Given the description of an element on the screen output the (x, y) to click on. 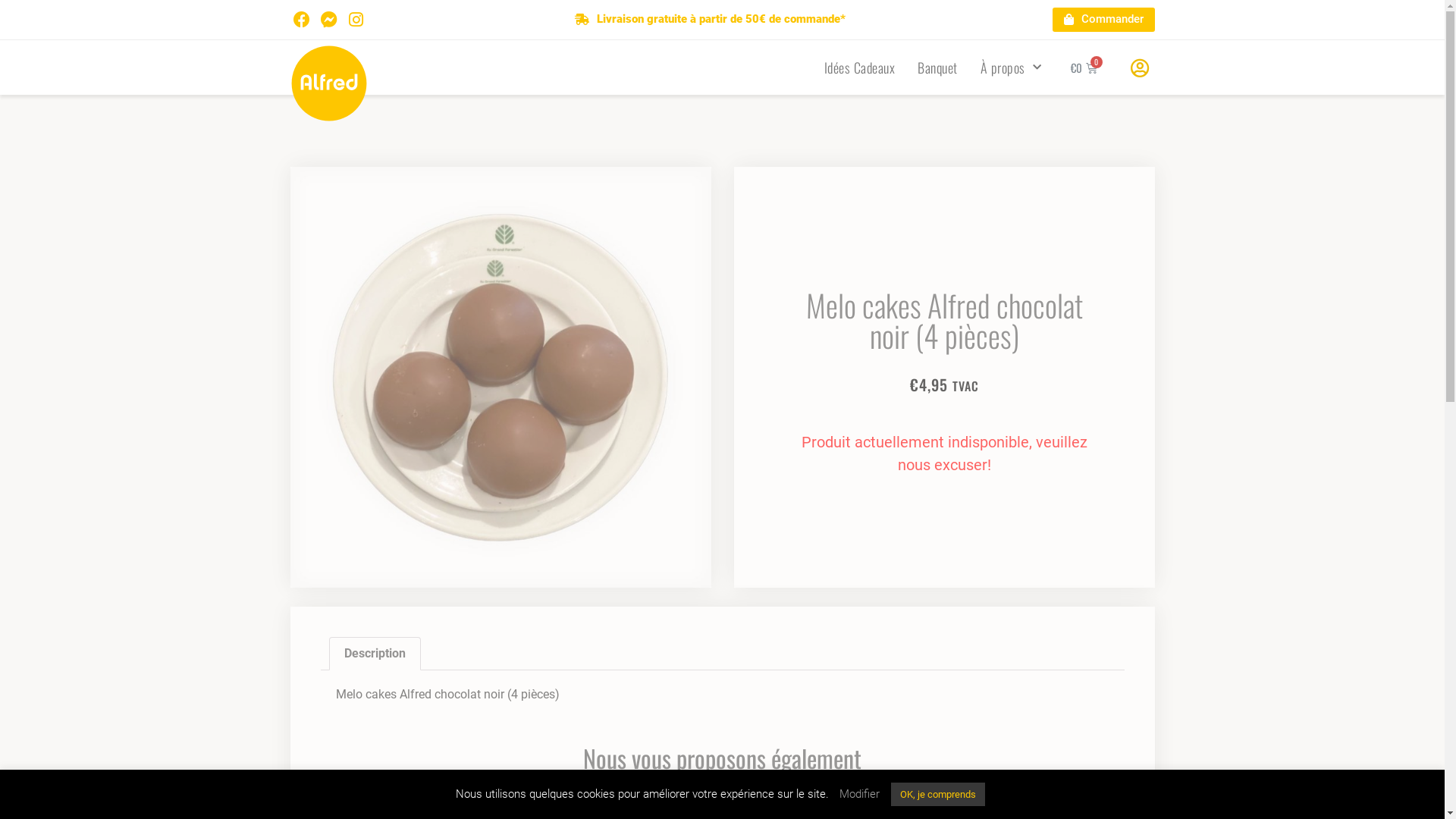
Commander Element type: text (1103, 19)
Artboard 26 Element type: hover (499, 376)
Alfred votre restaurant @ home Element type: hover (329, 83)
OK, je comprends Element type: text (938, 794)
Modifier Element type: text (859, 793)
Banquet Element type: text (937, 67)
Description Element type: text (374, 653)
